Given the description of an element on the screen output the (x, y) to click on. 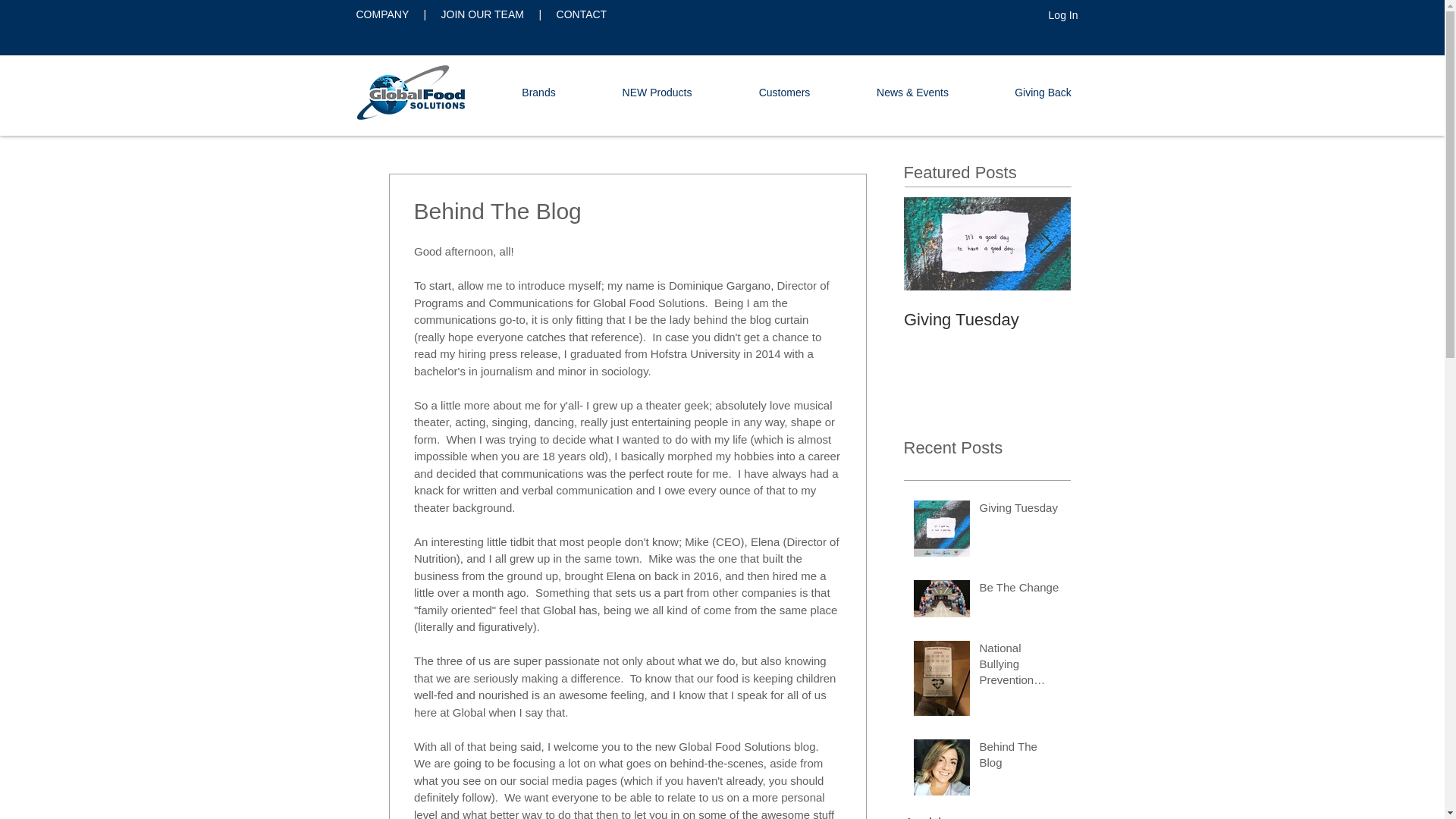
Be The Change (1153, 320)
GFSlogoforweb.png (413, 93)
NEW Products (987, 304)
CONTACT (656, 92)
Brands (987, 304)
Be The Change (581, 14)
 JOIN OUR TEAM  (537, 92)
Giving Tuesday (1020, 590)
COMPANY  (483, 14)
Log In (987, 320)
Customers (384, 14)
National Bullying Prevention Month (1063, 15)
Behind The Blog (784, 92)
